Given the description of an element on the screen output the (x, y) to click on. 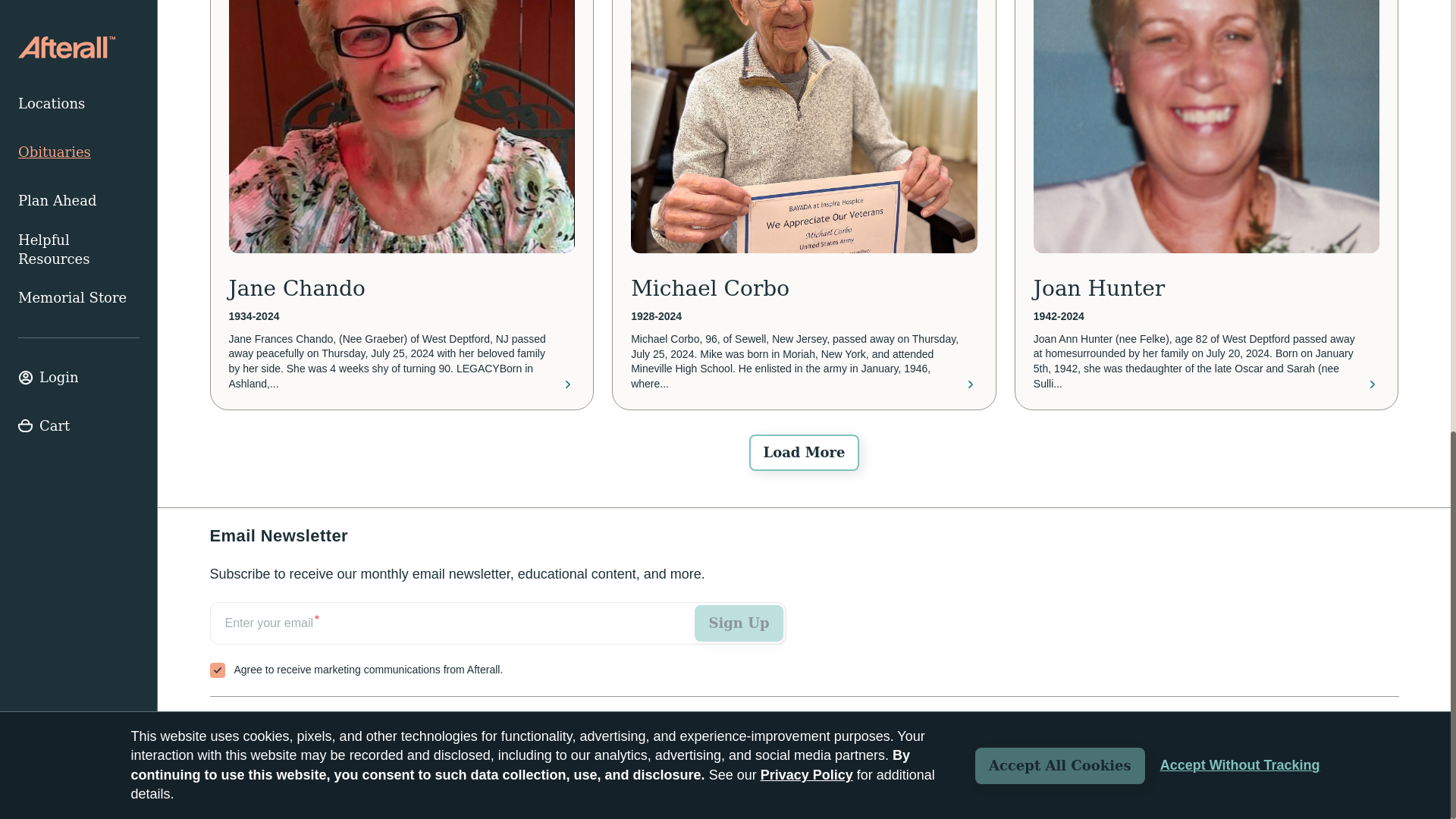
Privacy Policy (1362, 777)
Load More (804, 452)
FAQs (341, 724)
Sign Up (738, 623)
Track an Order (257, 724)
Email Newsletter (497, 639)
